Given the description of an element on the screen output the (x, y) to click on. 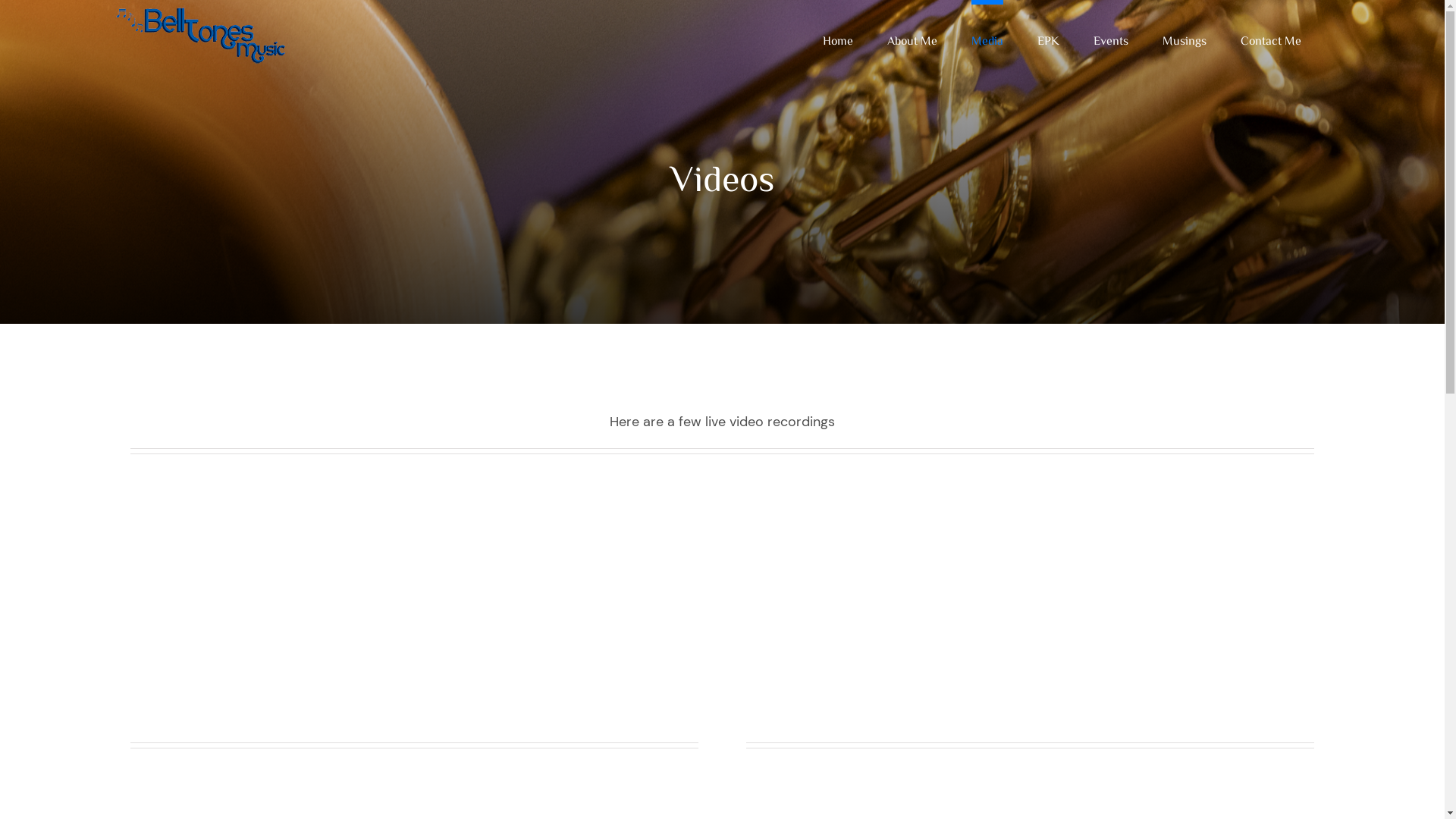
Home Element type: text (837, 37)
Contact Me Element type: text (1270, 37)
Events Element type: text (1110, 37)
About Me Element type: text (912, 37)
EPK Element type: text (1048, 37)
YouTube video player 1 Element type: hover (357, 605)
YouTube video player 4 Element type: hover (973, 605)
Media Element type: text (987, 37)
Musings Element type: text (1184, 37)
